Given the description of an element on the screen output the (x, y) to click on. 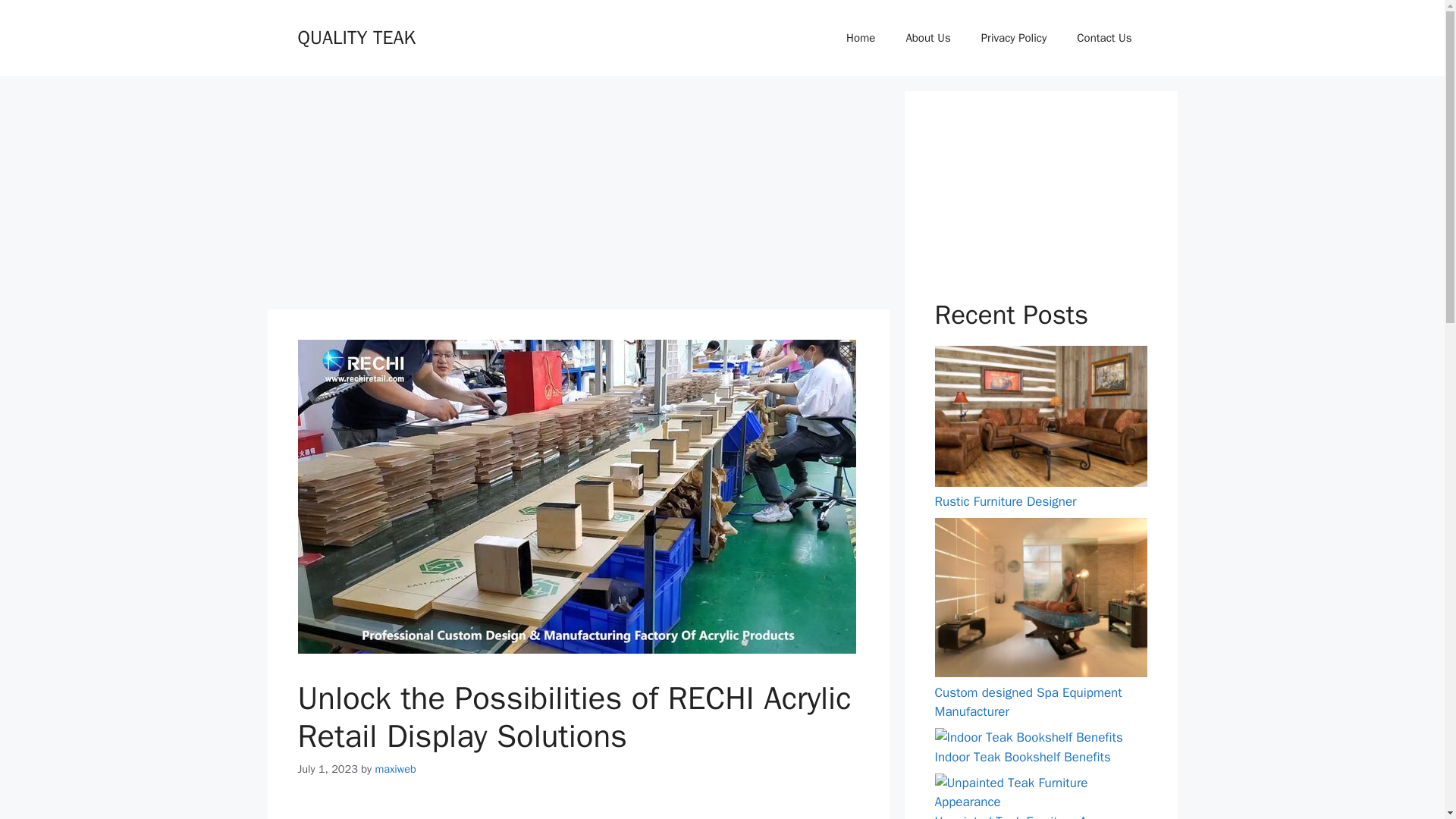
Privacy Policy (1014, 37)
QUALITY TEAK (355, 37)
About Us (927, 37)
maxiweb (395, 768)
Contact Us (1104, 37)
Unpainted Teak Furniture Appearance (1039, 816)
Rustic Furniture Designer (1004, 501)
Advertisement (1040, 209)
Advertisement (577, 196)
Custom designed Spa Equipment Manufacturer (1027, 702)
